Given the description of an element on the screen output the (x, y) to click on. 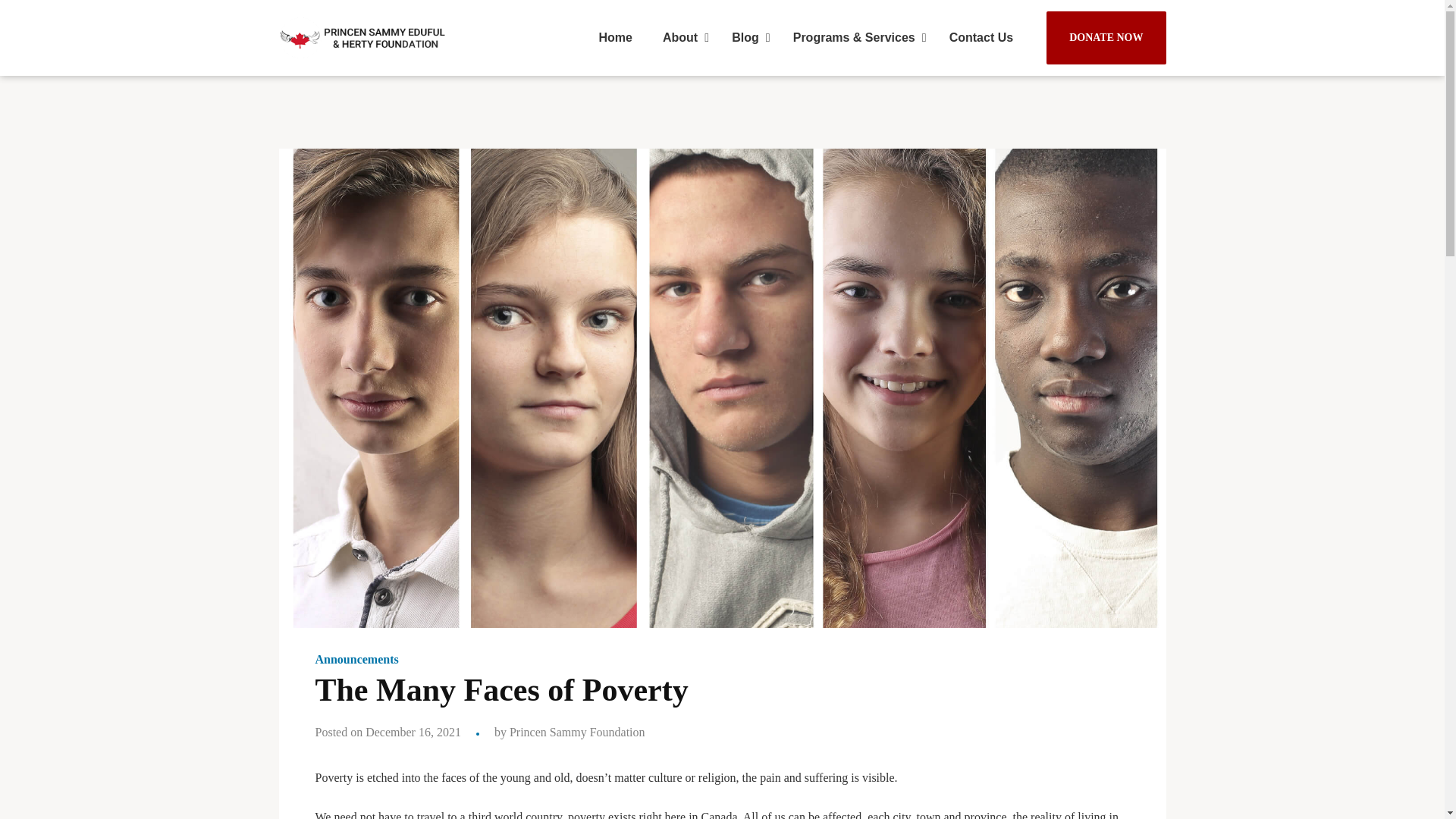
Blog (746, 37)
Contact Us (980, 37)
DONATE NOW (1106, 37)
Home (615, 37)
About (681, 37)
